Given the description of an element on the screen output the (x, y) to click on. 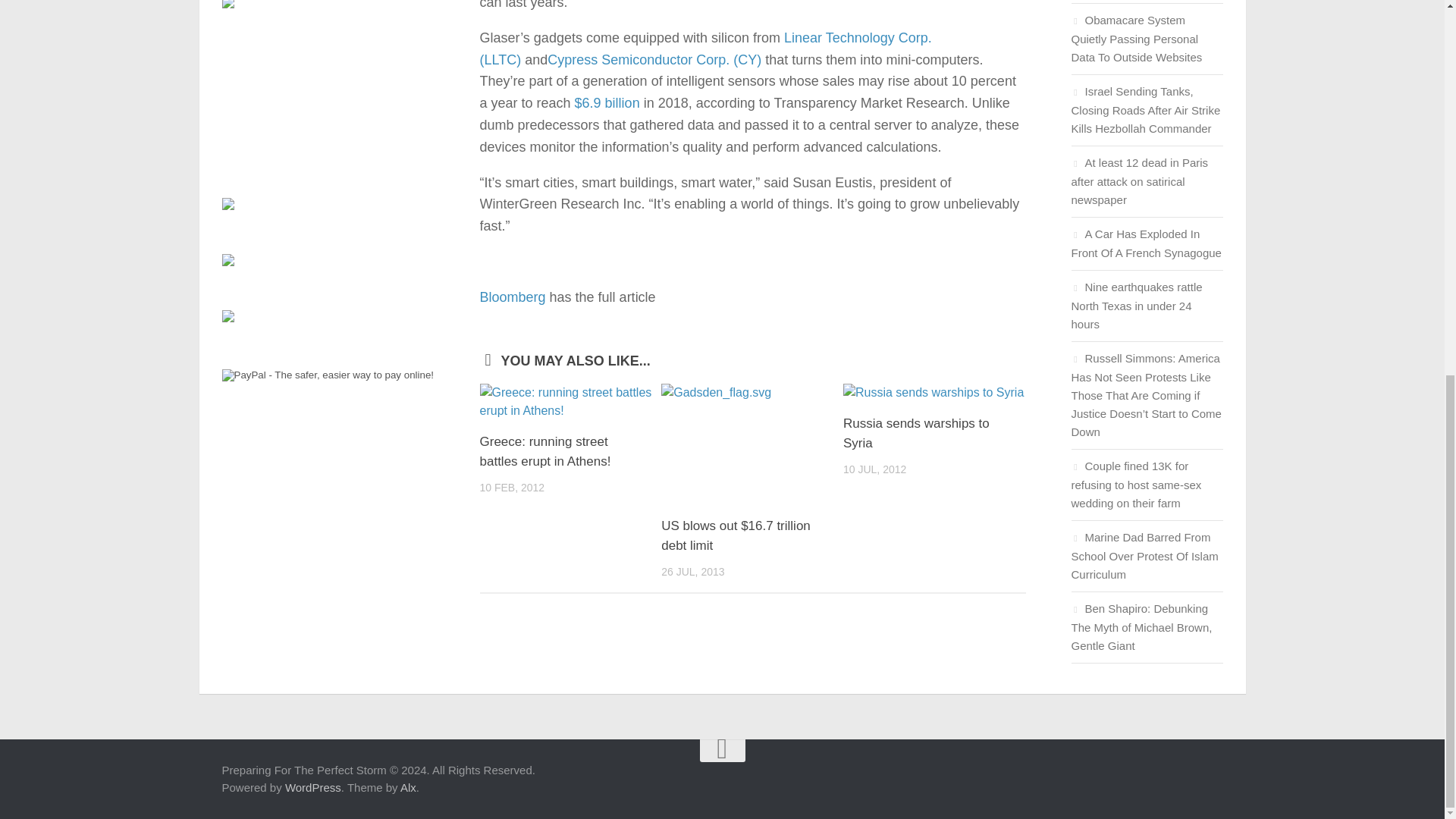
Greece: running street battles erupt in Athens! (544, 451)
Get Quote (654, 59)
Preparing for the Perfect Storm.com (226, 5)
Russia sends warships to Syria (916, 433)
Open Web Site (607, 102)
Greece: running street battles erupt in Athens! (570, 402)
Russia sends warships to Syria (934, 393)
Get Quote (705, 48)
